Given the description of an element on the screen output the (x, y) to click on. 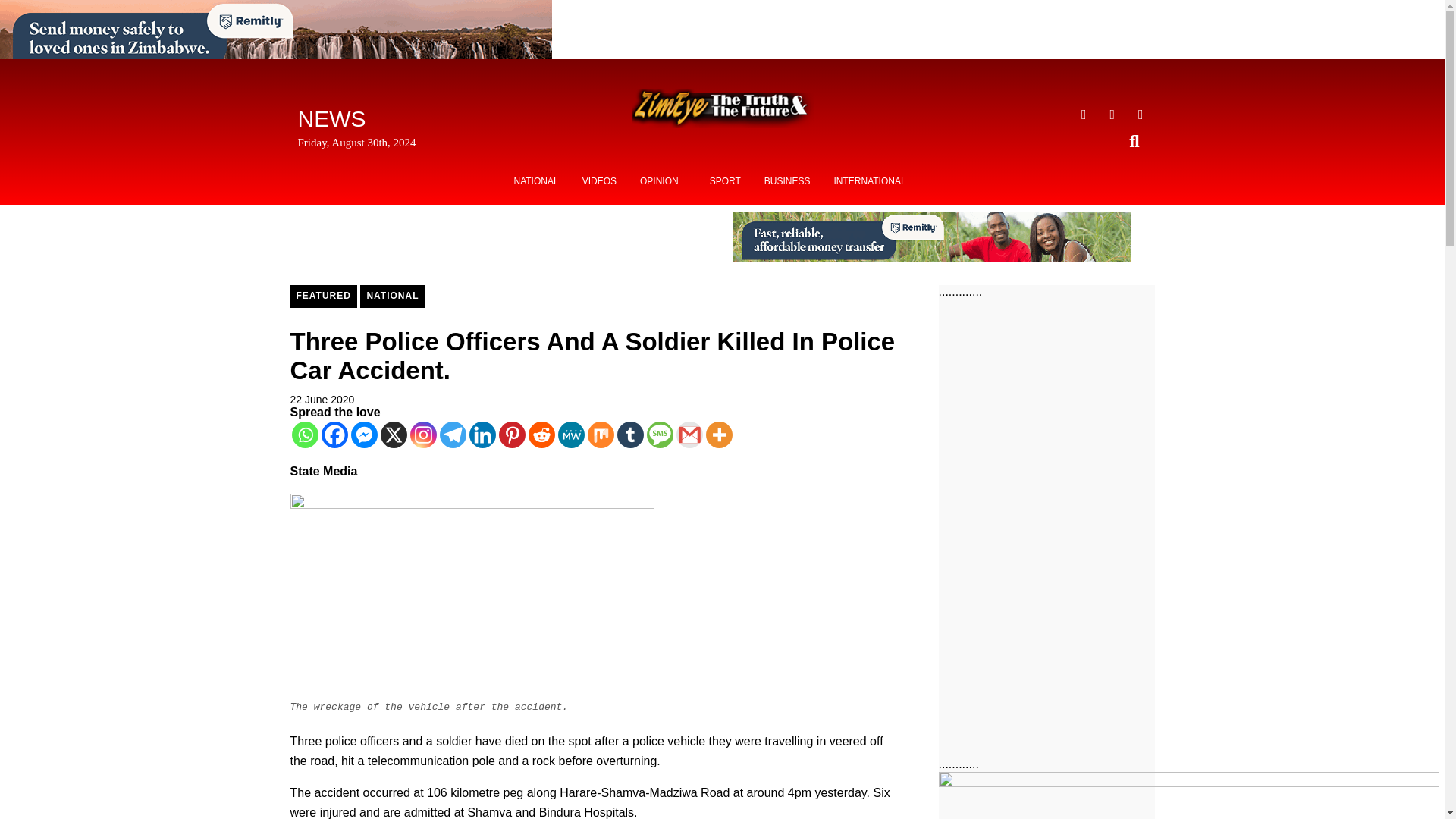
OPINION (662, 181)
FEATURED (322, 296)
Telegram (452, 434)
X (393, 434)
Linkedin (481, 434)
Facebook (334, 434)
INTERNATIONAL (868, 181)
Facebook Messenger (363, 434)
Reddit (540, 434)
MeWe (571, 434)
